Given the description of an element on the screen output the (x, y) to click on. 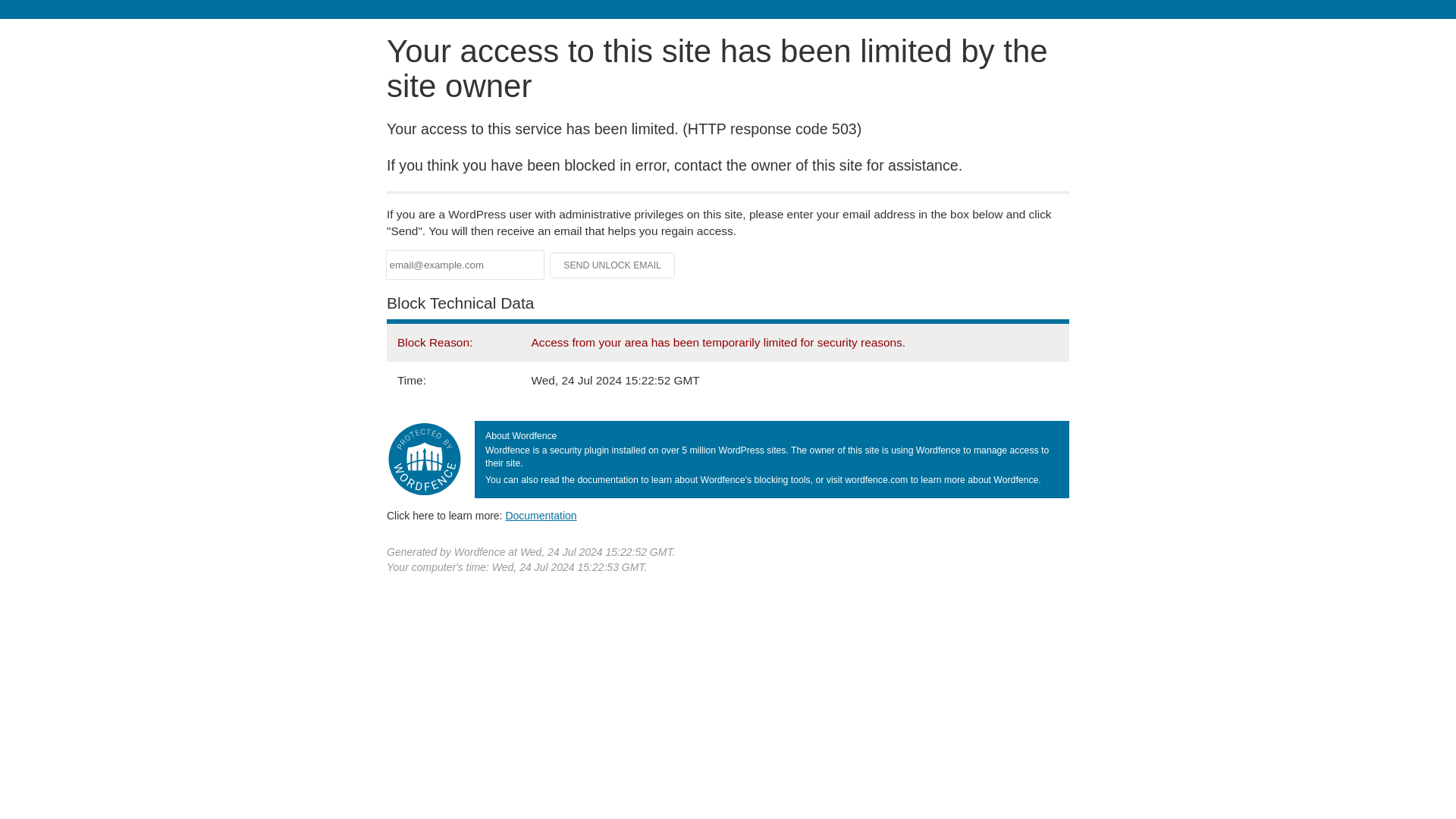
Send Unlock Email (612, 265)
Documentation (540, 515)
Send Unlock Email (612, 265)
